Given the description of an element on the screen output the (x, y) to click on. 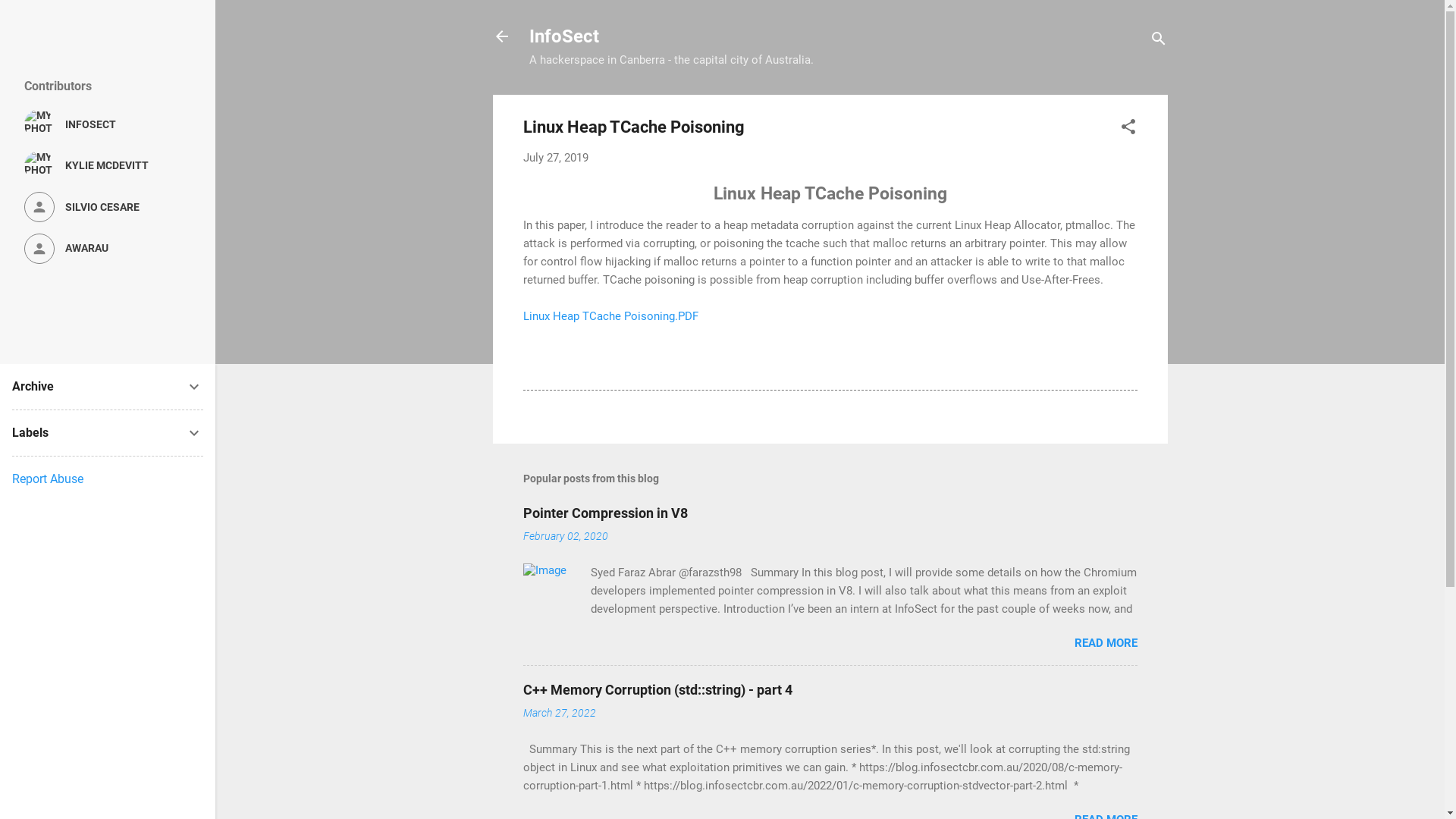
KYLIE MCDEVITT Element type: text (107, 165)
INFOSECT Element type: text (107, 124)
Pointer Compression in V8 Element type: text (605, 512)
February 02, 2020 Element type: text (565, 536)
Linux Heap TCache Poisoning.PDF Element type: text (610, 316)
AWARAU Element type: text (107, 248)
READ MORE Element type: text (1104, 642)
C++ Memory Corruption (std::string) - part 4 Element type: text (657, 689)
Report Abuse Element type: text (47, 478)
July 27, 2019 Element type: text (555, 157)
SILVIO CESARE Element type: text (107, 206)
InfoSect Element type: text (564, 36)
March 27, 2022 Element type: text (559, 712)
Search Element type: text (28, 18)
